Given the description of an element on the screen output the (x, y) to click on. 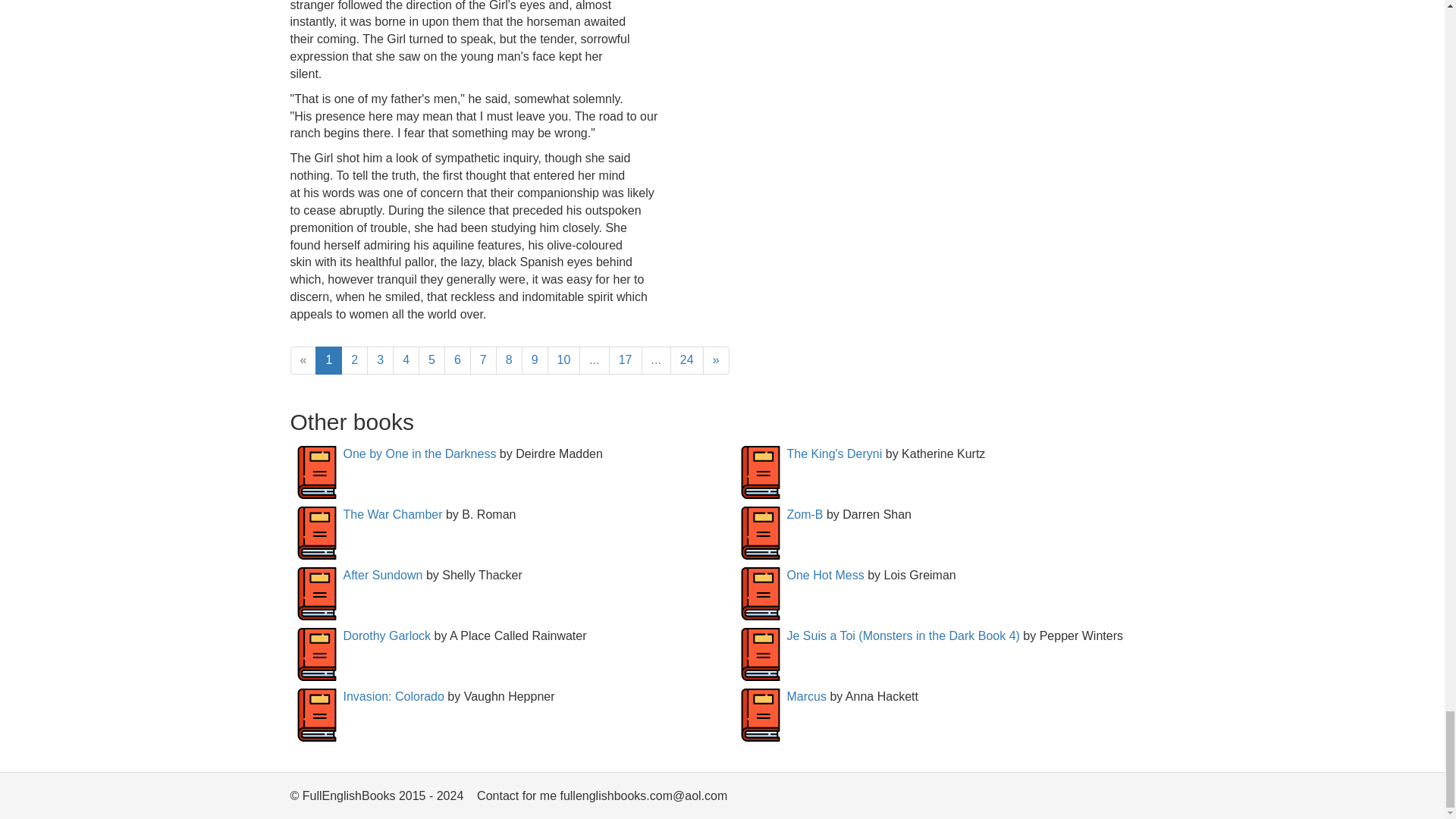
7 (483, 360)
3 (379, 360)
8 (509, 360)
17 (625, 360)
4 (406, 360)
One by One in the Darkness (419, 453)
5 (432, 360)
9 (534, 360)
10 (563, 360)
LiveInternet (1142, 799)
